Given the description of an element on the screen output the (x, y) to click on. 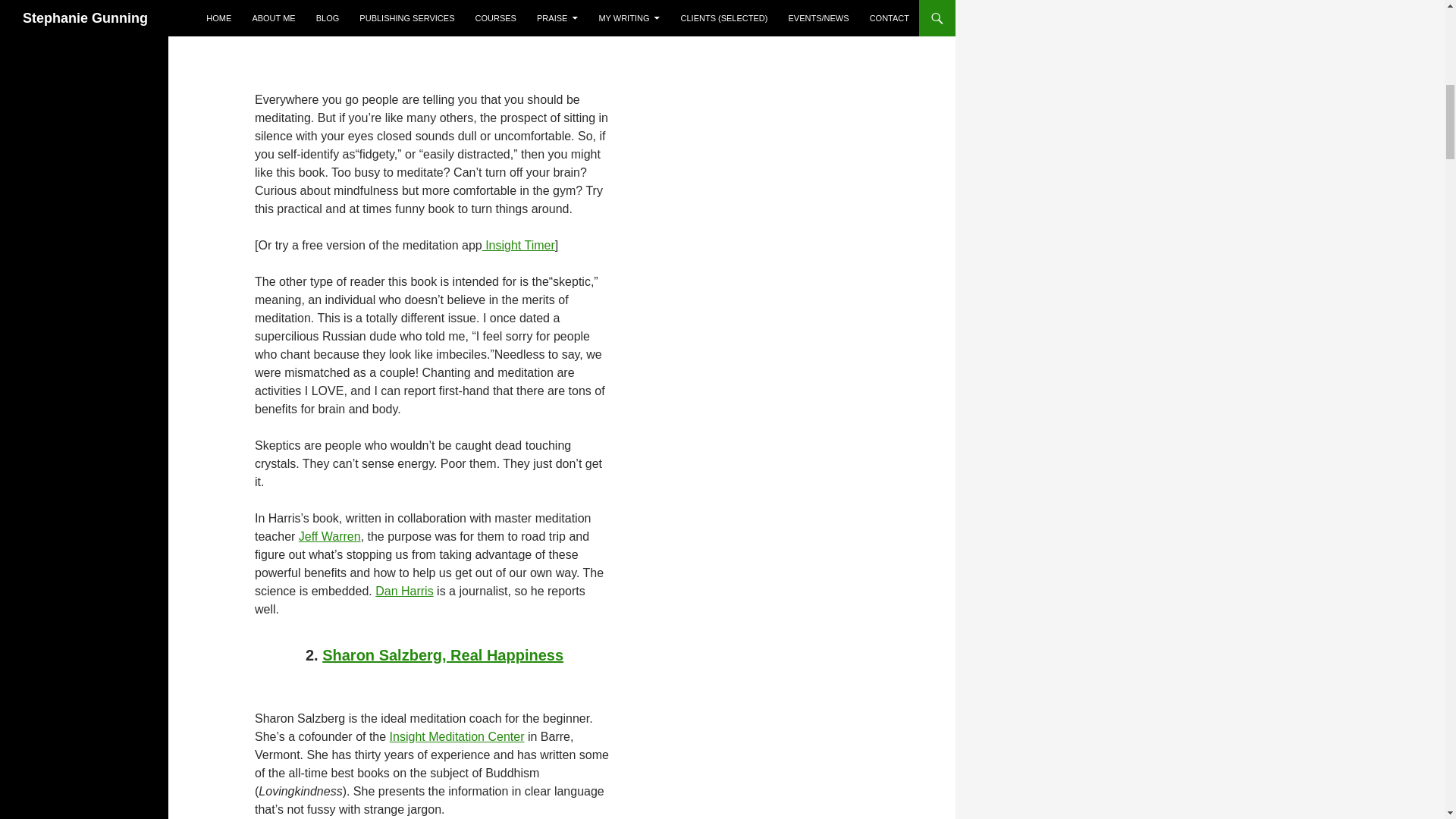
Insight Meditation Center (457, 736)
Insight Timer (517, 245)
Dan Harris (403, 590)
Sharon Salzberg, Real Happiness (442, 655)
Jeff Warren (329, 535)
